Given the description of an element on the screen output the (x, y) to click on. 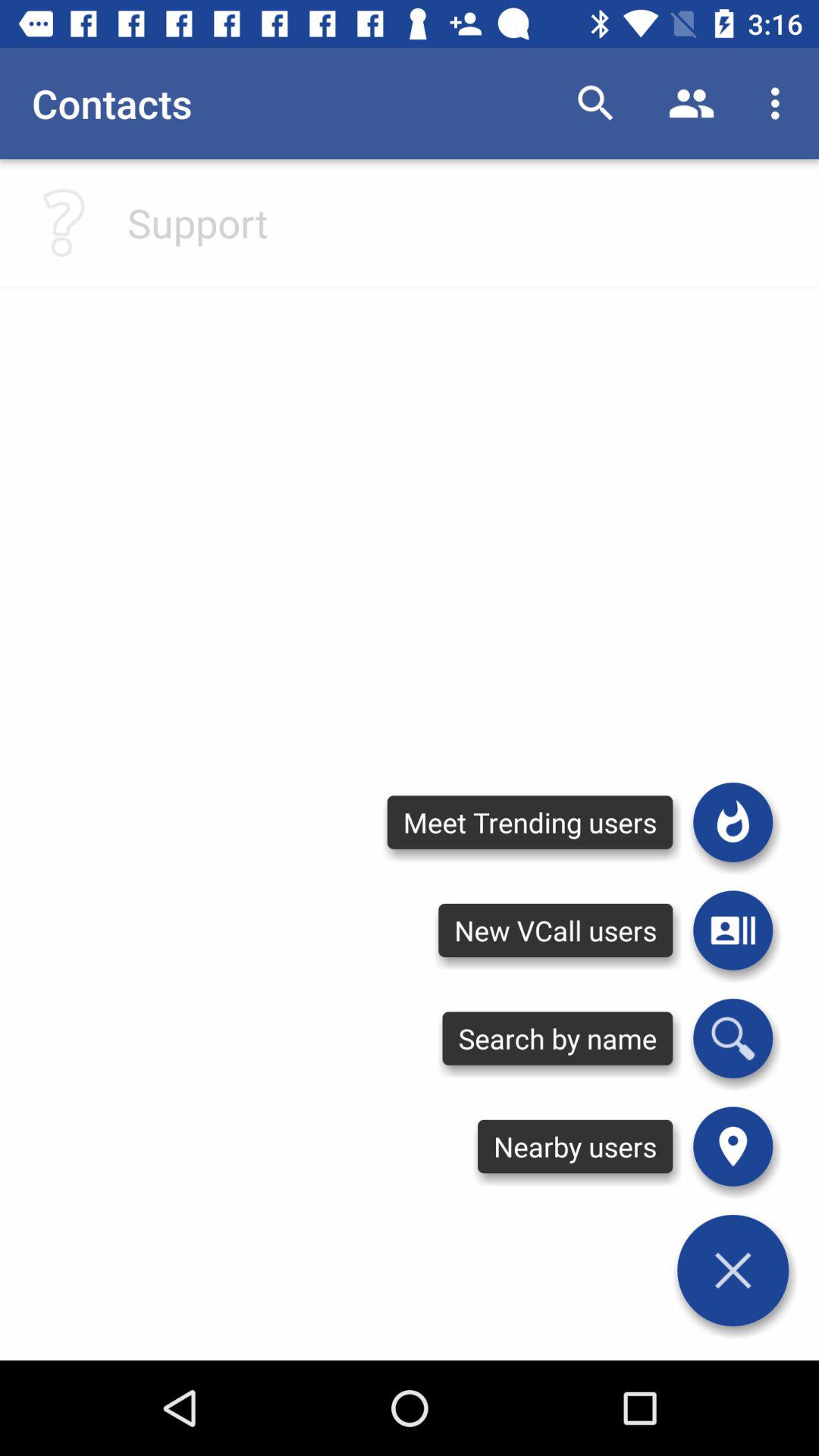
search name (733, 1038)
